Given the description of an element on the screen output the (x, y) to click on. 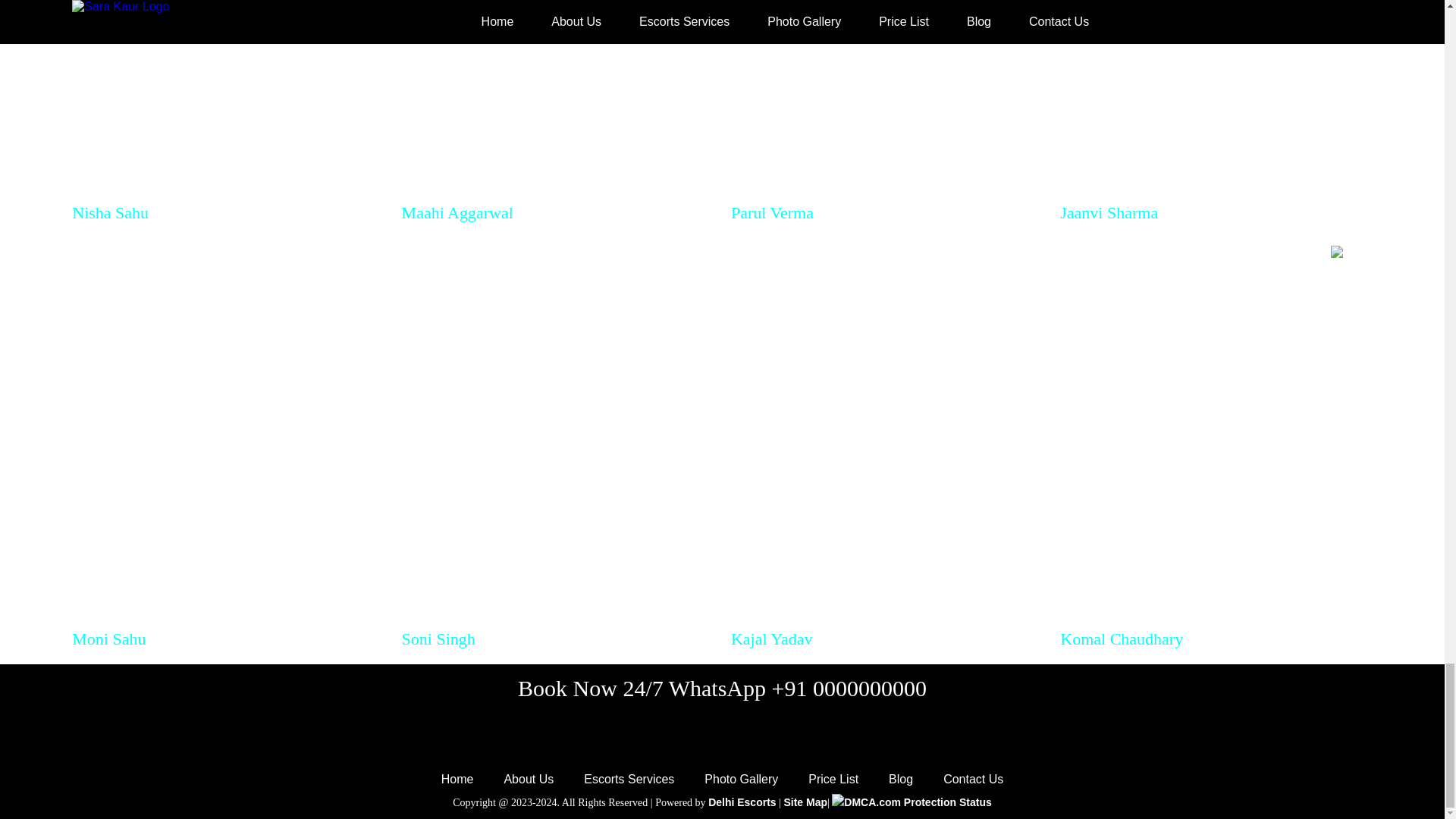
Parul Verma Escort Girl (886, 99)
Jaanvi Sharma Escort Girl (1215, 99)
Moni Sahu Escort Girl (227, 431)
Nisha Sahu Escort Girl (227, 99)
Maahi Aggarwal Escort Girl (557, 99)
Soni Singh Escort Girl (557, 431)
